Given the description of an element on the screen output the (x, y) to click on. 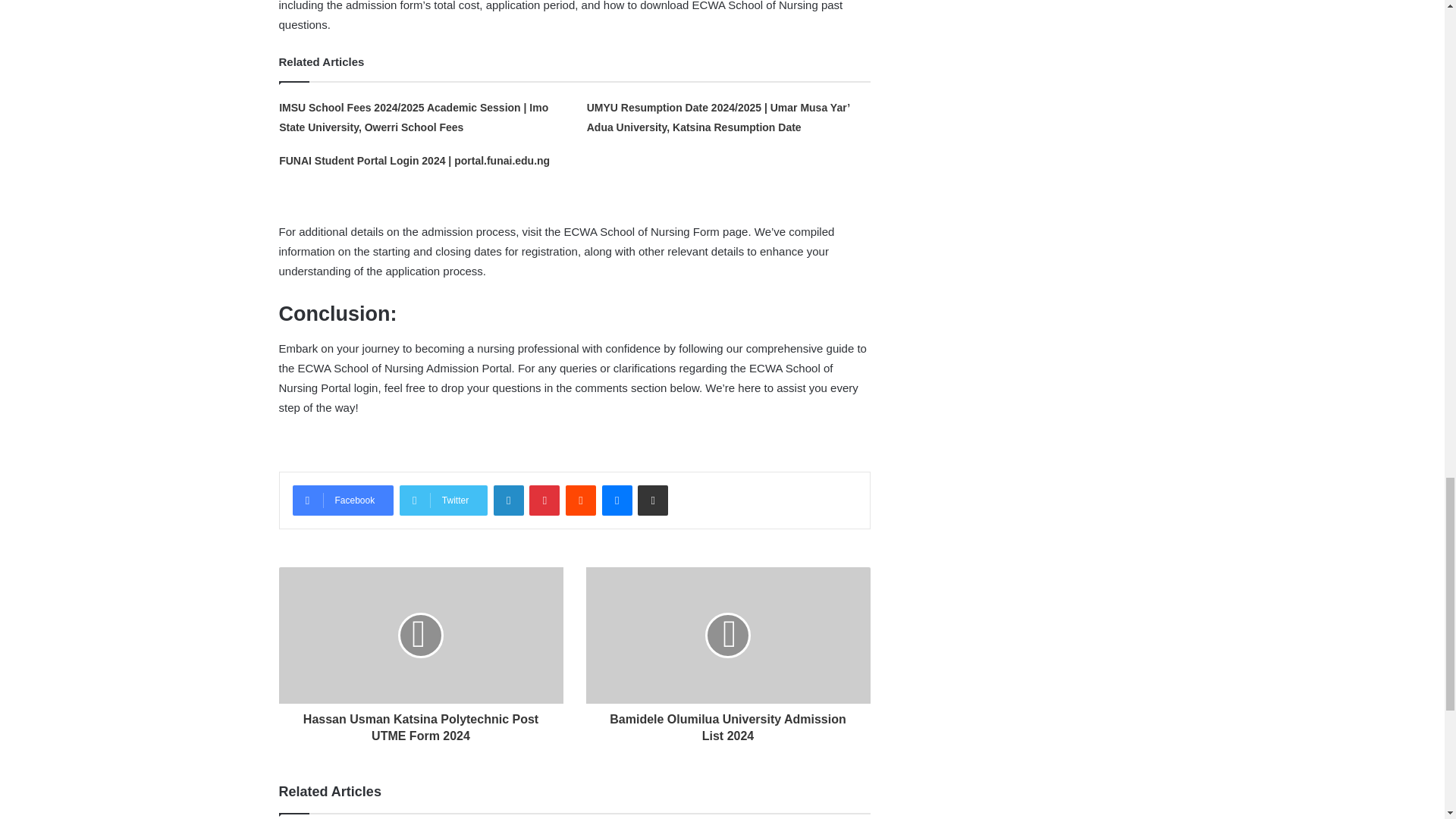
Pinterest (544, 500)
Facebook (343, 500)
Messenger (616, 500)
Reddit (580, 500)
Twitter (442, 500)
LinkedIn (508, 500)
